Given the description of an element on the screen output the (x, y) to click on. 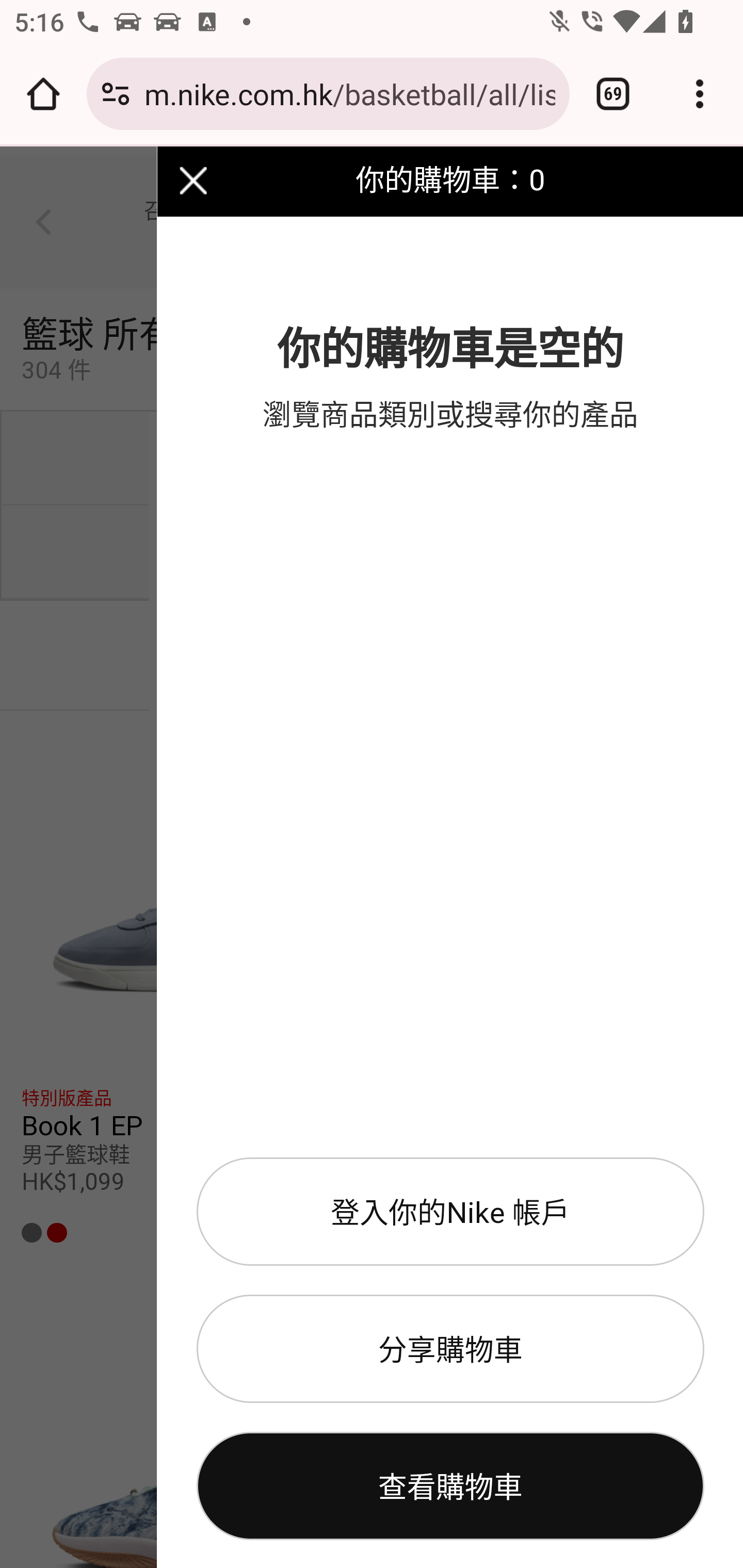
Open the home page (43, 93)
Connection is secure (115, 93)
Switch or close tabs (612, 93)
Customize and control Google Chrome (699, 93)
登入你的Nike 帳戶 (449, 1211)
查看購物車 (449, 1486)
